Given the description of an element on the screen output the (x, y) to click on. 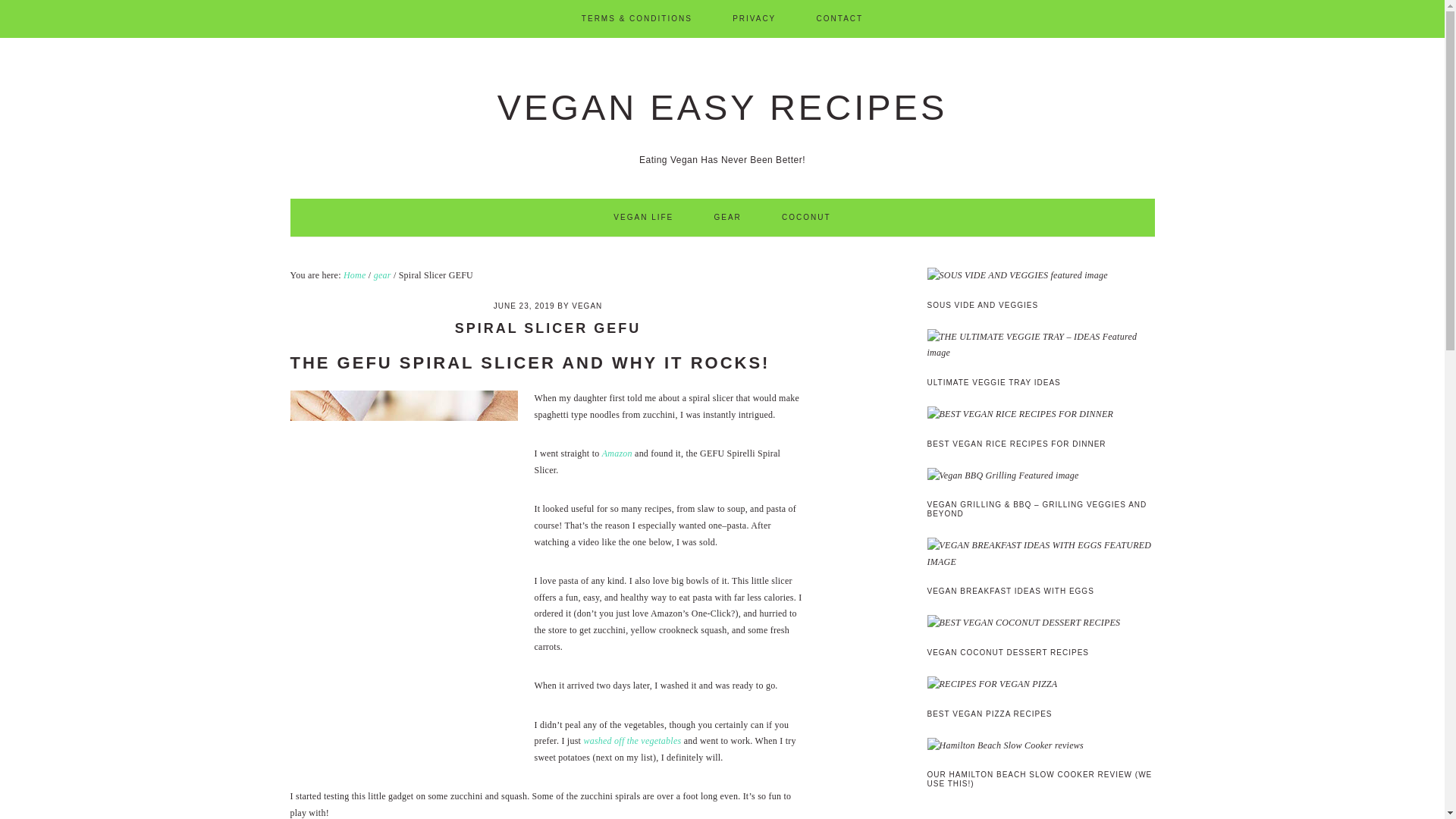
Vegan Breakfast Ideas with Eggs (1040, 553)
Amazon (616, 452)
VEGAN LIFE (643, 217)
GEAR (727, 217)
gear (382, 275)
COCONUT (806, 217)
washed off the vegetables (632, 740)
PRIVACY (753, 18)
VEGAN EASY RECIPES (722, 106)
VEGAN (587, 306)
